Given the description of an element on the screen output the (x, y) to click on. 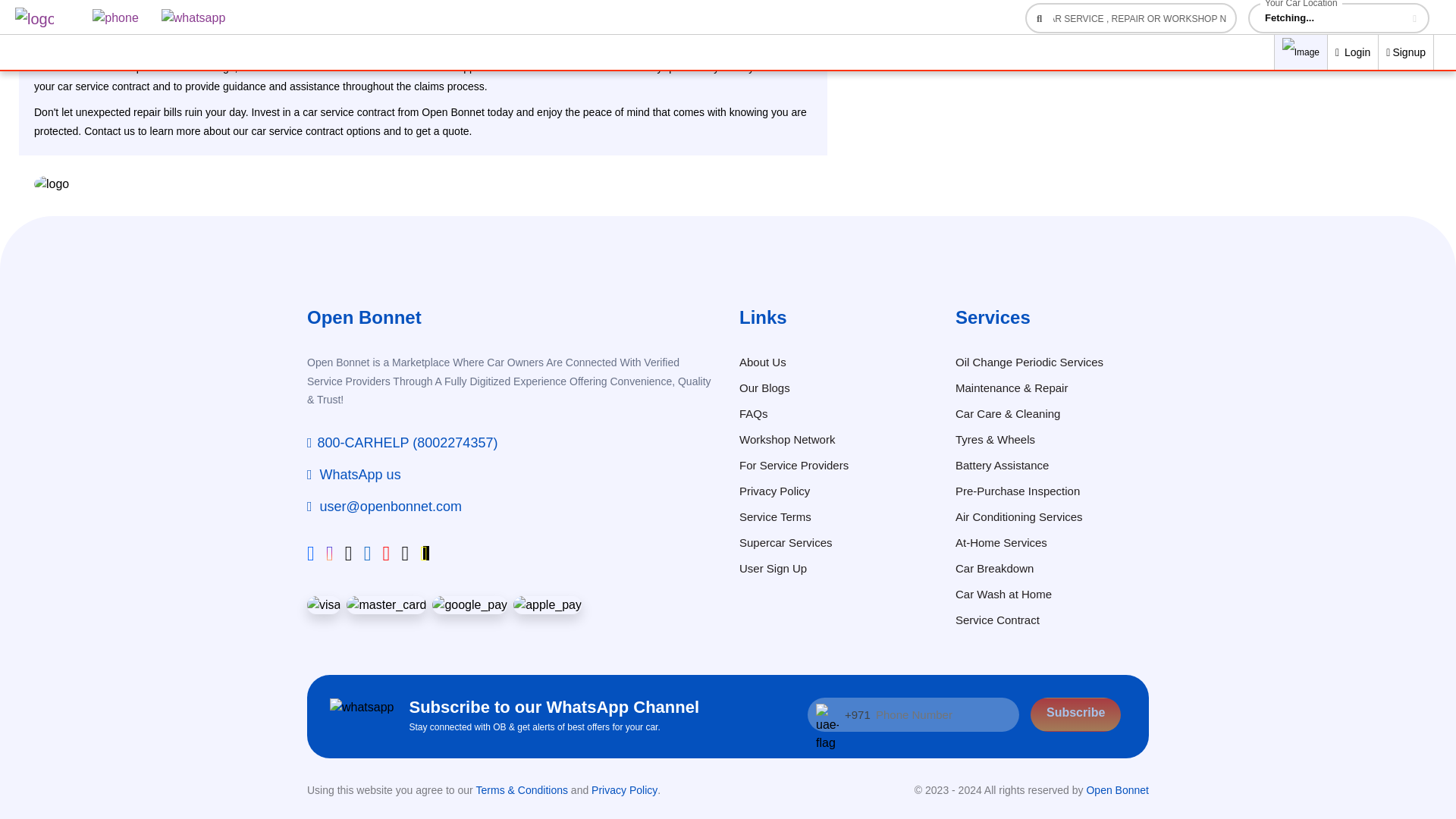
Mobile Mechanics (76, 3)
WhatsApp us (354, 474)
